Given the description of an element on the screen output the (x, y) to click on. 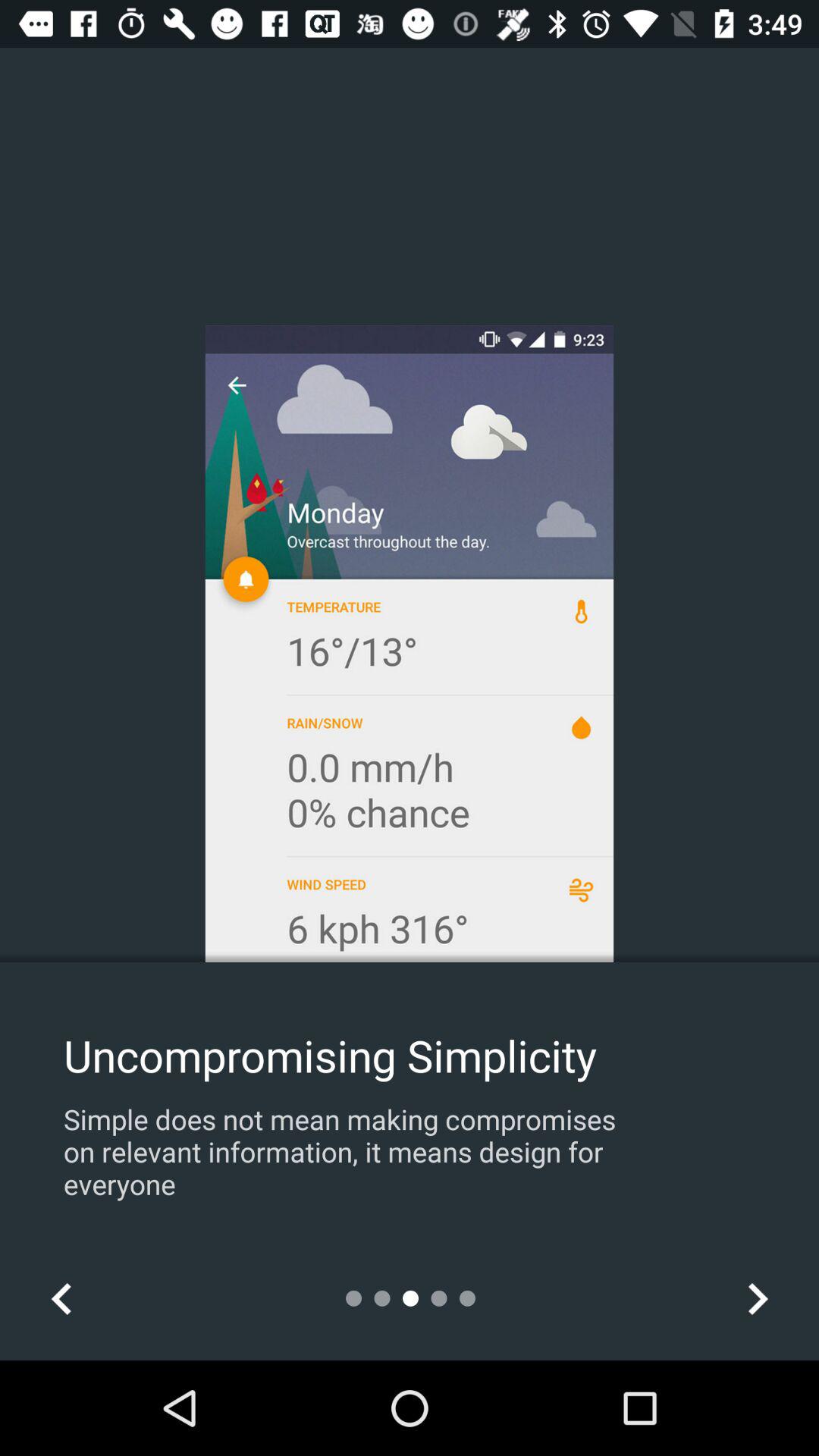
choose item below the simple does not item (61, 1298)
